Given the description of an element on the screen output the (x, y) to click on. 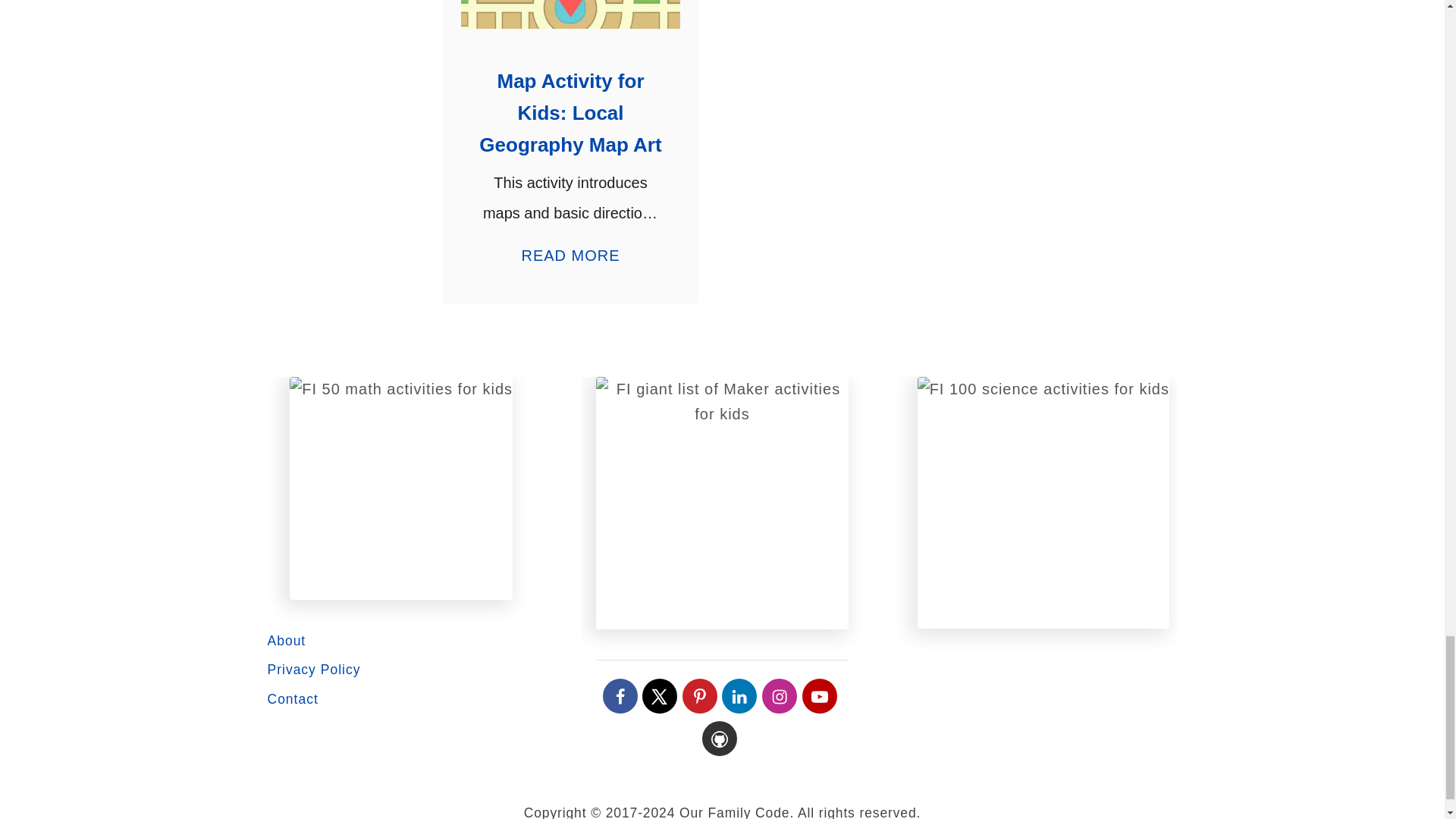
Follow on Instagram (778, 695)
Map Activity for Kids: Local Geography Map Art (570, 14)
Follow on X (659, 695)
Follow on GitHub (718, 738)
Follow on Facebook (619, 695)
Map Activity for Kids: Local Geography Map Art (570, 113)
Follow on LinkedIn (739, 695)
Follow on YouTube (819, 695)
Follow on Pinterest (699, 695)
